Given the description of an element on the screen output the (x, y) to click on. 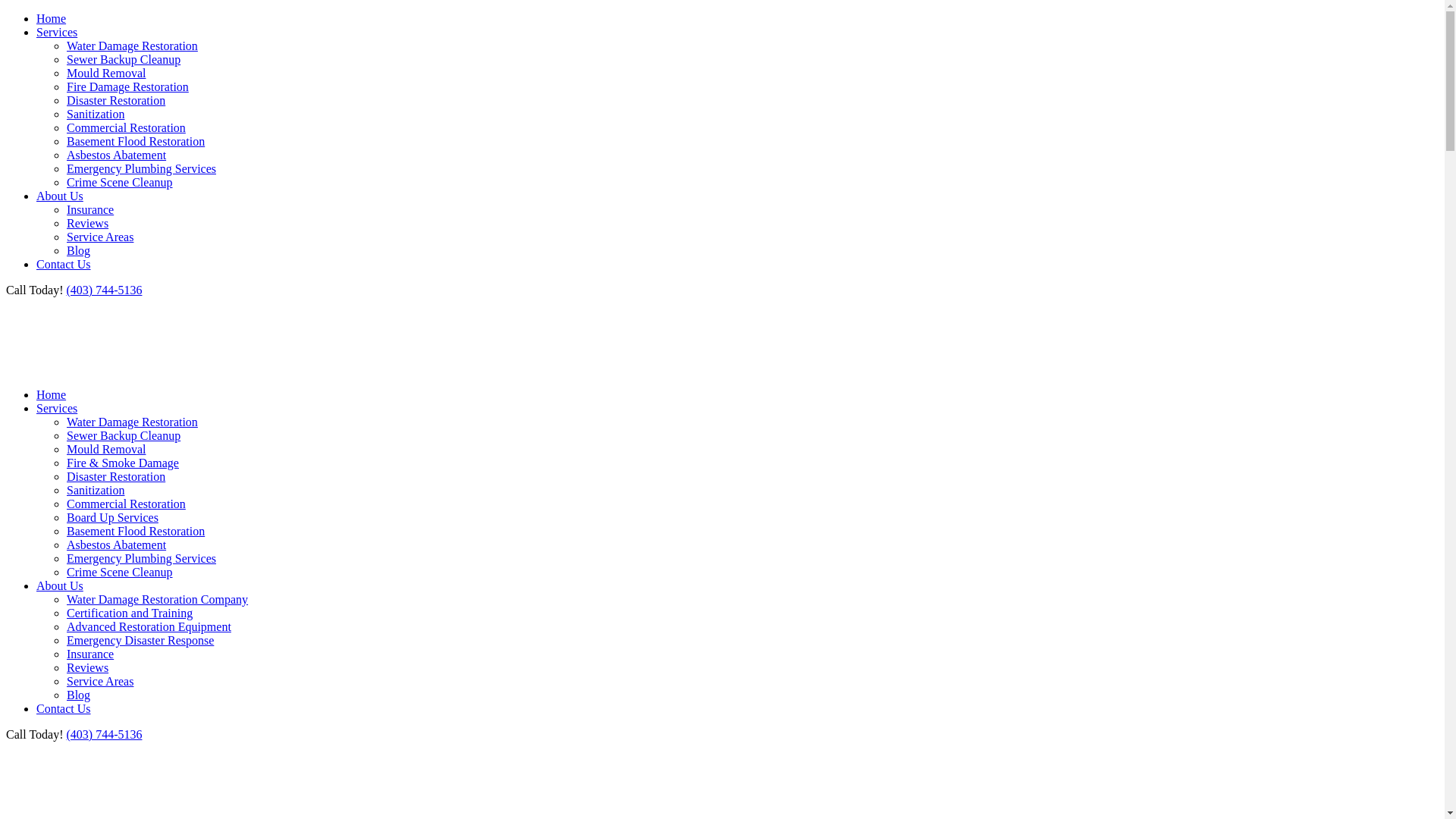
Insurance Element type: text (89, 209)
Advanced Restoration Equipment Element type: text (148, 626)
Sewer Backup Cleanup Element type: text (123, 59)
(403) 744-5136 Element type: text (103, 289)
Mould Removal Element type: text (105, 72)
Sanitization Element type: text (95, 489)
Insurance Element type: text (89, 653)
Homepage Element type: hover (48, 368)
Crime Scene Cleanup Element type: text (119, 181)
About Us Element type: text (59, 195)
Water Damage Restoration Element type: text (131, 421)
Emergency Plumbing Services Element type: text (141, 558)
Home Element type: text (50, 394)
(403) 744-5136 Element type: text (103, 734)
Service Areas Element type: text (99, 236)
Fire Damage Restoration Element type: text (127, 86)
Commercial Restoration Element type: text (125, 503)
Board Up Services Element type: text (112, 517)
Emergency Plumbing Services Element type: text (141, 168)
Reviews Element type: text (87, 222)
Blog Element type: text (78, 694)
Water Damage Restoration Company Element type: text (156, 599)
Disaster Restoration Element type: text (115, 476)
Certification and Training Element type: text (129, 612)
Asbestos Abatement Element type: text (116, 544)
Crime Scene Cleanup Element type: text (119, 571)
Services Element type: text (56, 31)
Asbestos Abatement Element type: text (116, 154)
Basement Flood Restoration Element type: text (135, 530)
Contact Us Element type: text (63, 708)
Blog Element type: text (78, 250)
Reviews Element type: text (87, 667)
Emergency Disaster Response Element type: text (139, 639)
Fire & Smoke Damage Element type: text (122, 462)
Services Element type: text (56, 407)
Basement Flood Restoration Element type: text (135, 140)
Contact Us Element type: text (63, 263)
Mould Removal Element type: text (105, 448)
Disaster Restoration Element type: text (115, 100)
About Us Element type: text (59, 585)
Water Damage Restoration Element type: text (131, 45)
Sewer Backup Cleanup Element type: text (123, 435)
Home Element type: text (50, 18)
Commercial Restoration Element type: text (125, 127)
Sanitization Element type: text (95, 113)
Service Areas Element type: text (99, 680)
